Given the description of an element on the screen output the (x, y) to click on. 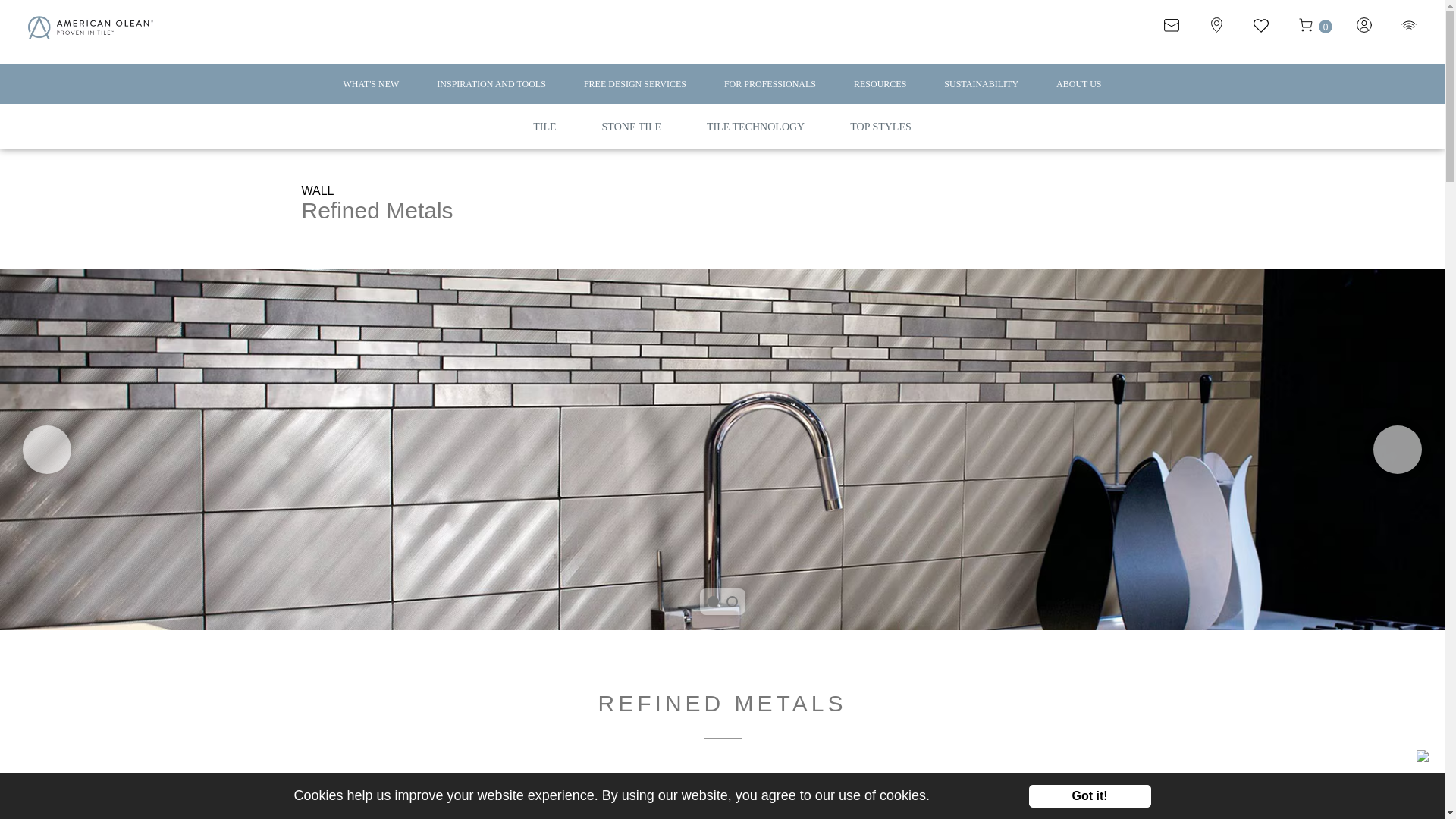
INSPIRATION AND TOOLS (491, 91)
Site logo - desktop (89, 28)
FREE DESIGN SERVICES (634, 91)
WHAT'S NEW (370, 91)
FOR PROFESSIONALS (769, 91)
0 (1325, 30)
